Given the description of an element on the screen output the (x, y) to click on. 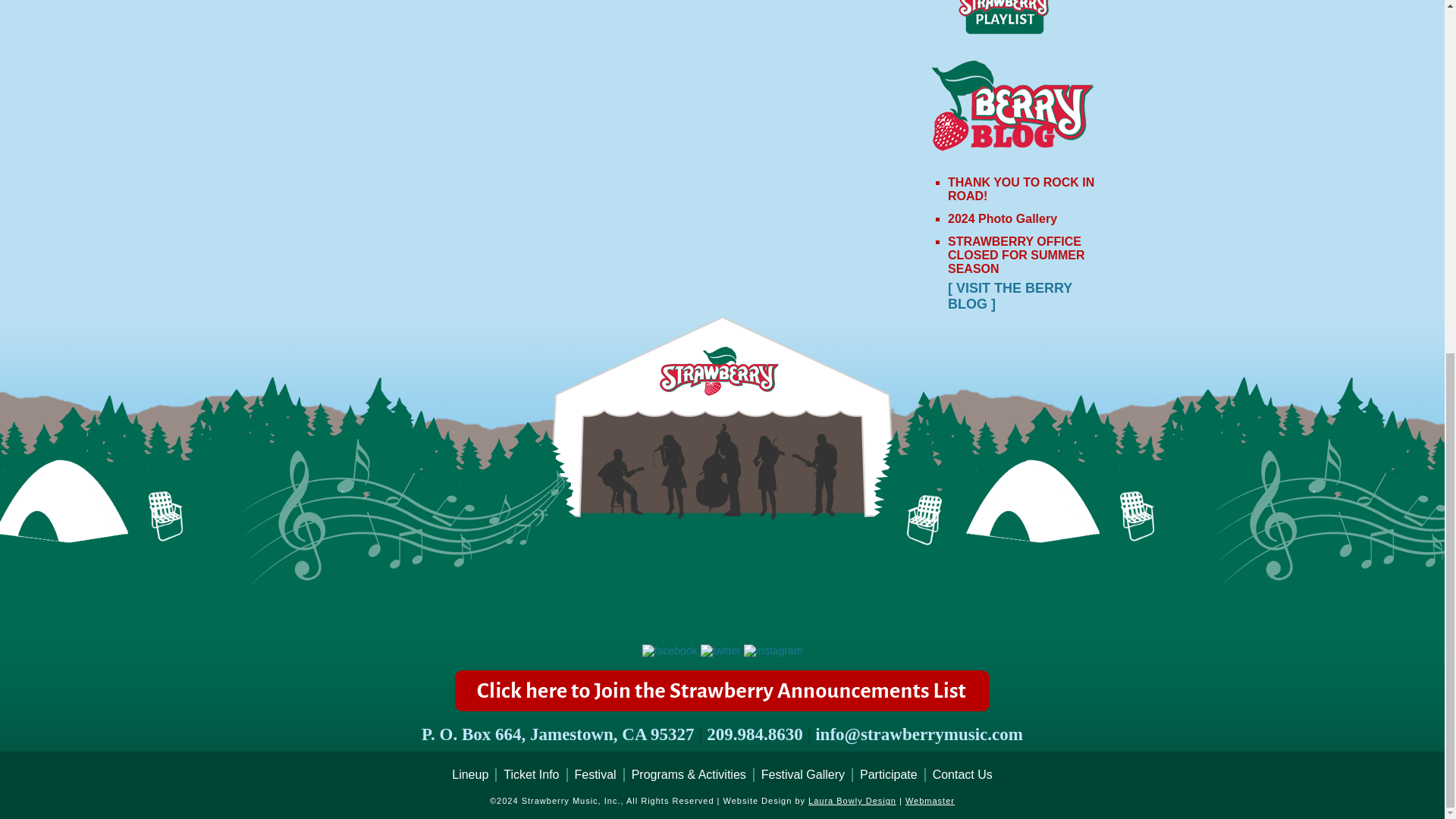
facebook (669, 650)
instagram (773, 650)
instagram (772, 650)
THANK YOU TO ROCK IN ROAD! (1020, 189)
twitter (720, 650)
2024 Photo Gallery (1002, 218)
twitter (720, 650)
STRAWBERRY OFFICE CLOSED FOR SUMMER SEASON (1015, 255)
facebook (669, 650)
